Given the description of an element on the screen output the (x, y) to click on. 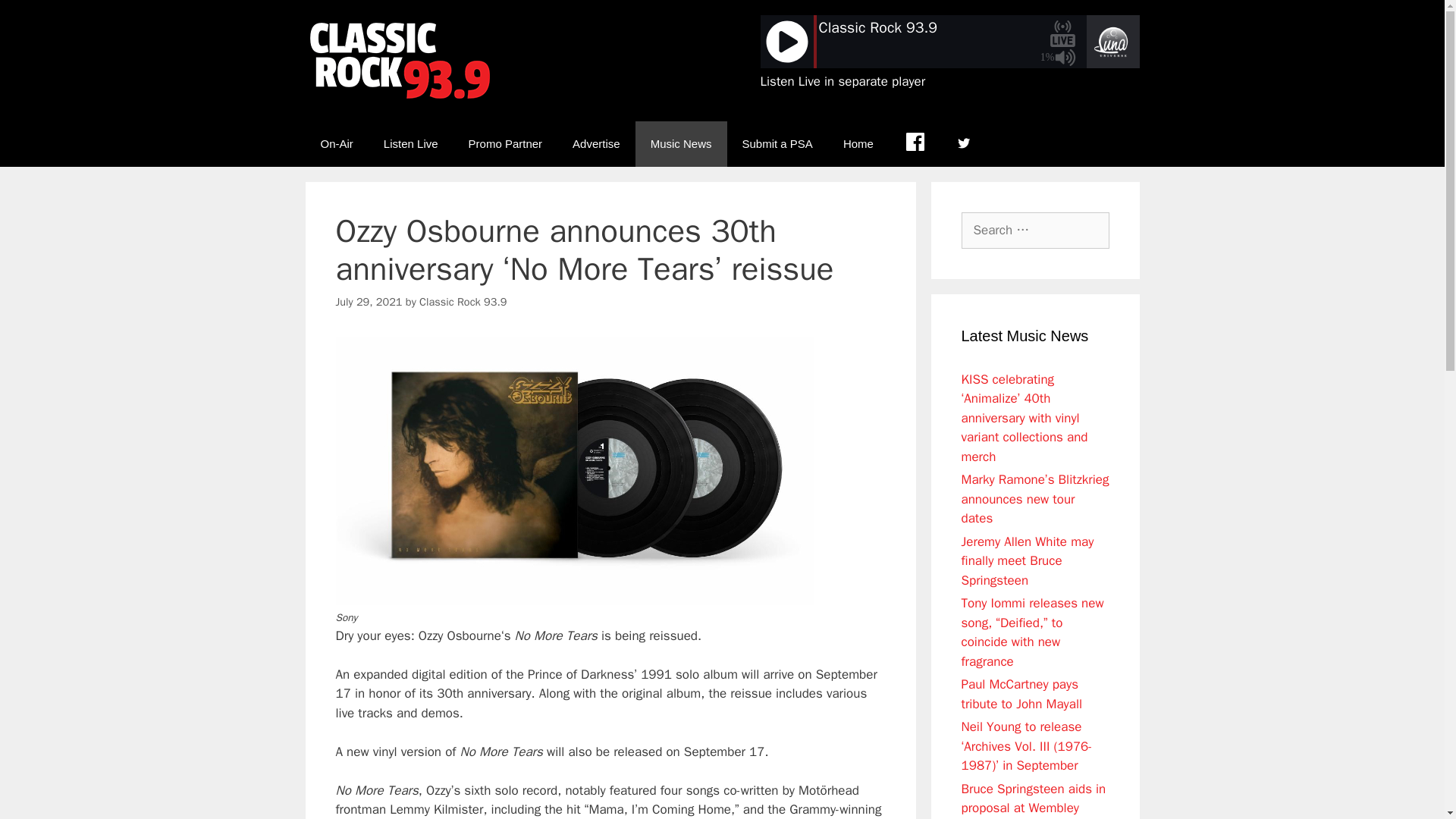
Submit a PSA (776, 144)
Advertise (595, 144)
Menu Item (915, 144)
Search for: (1034, 230)
Listen Live (410, 144)
Home (858, 144)
Paul McCartney pays tribute to John Mayall (1021, 693)
Bruce Springsteen aids in proposal at Wembley Stadium show (1033, 800)
Listen Live in separate player (842, 81)
Classic Rock 93.9 (462, 301)
Promo Partner (504, 144)
Jeremy Allen White may finally meet Bruce Springsteen (1027, 560)
Search (35, 18)
View all posts by Classic Rock 93.9 (462, 301)
